Given the description of an element on the screen output the (x, y) to click on. 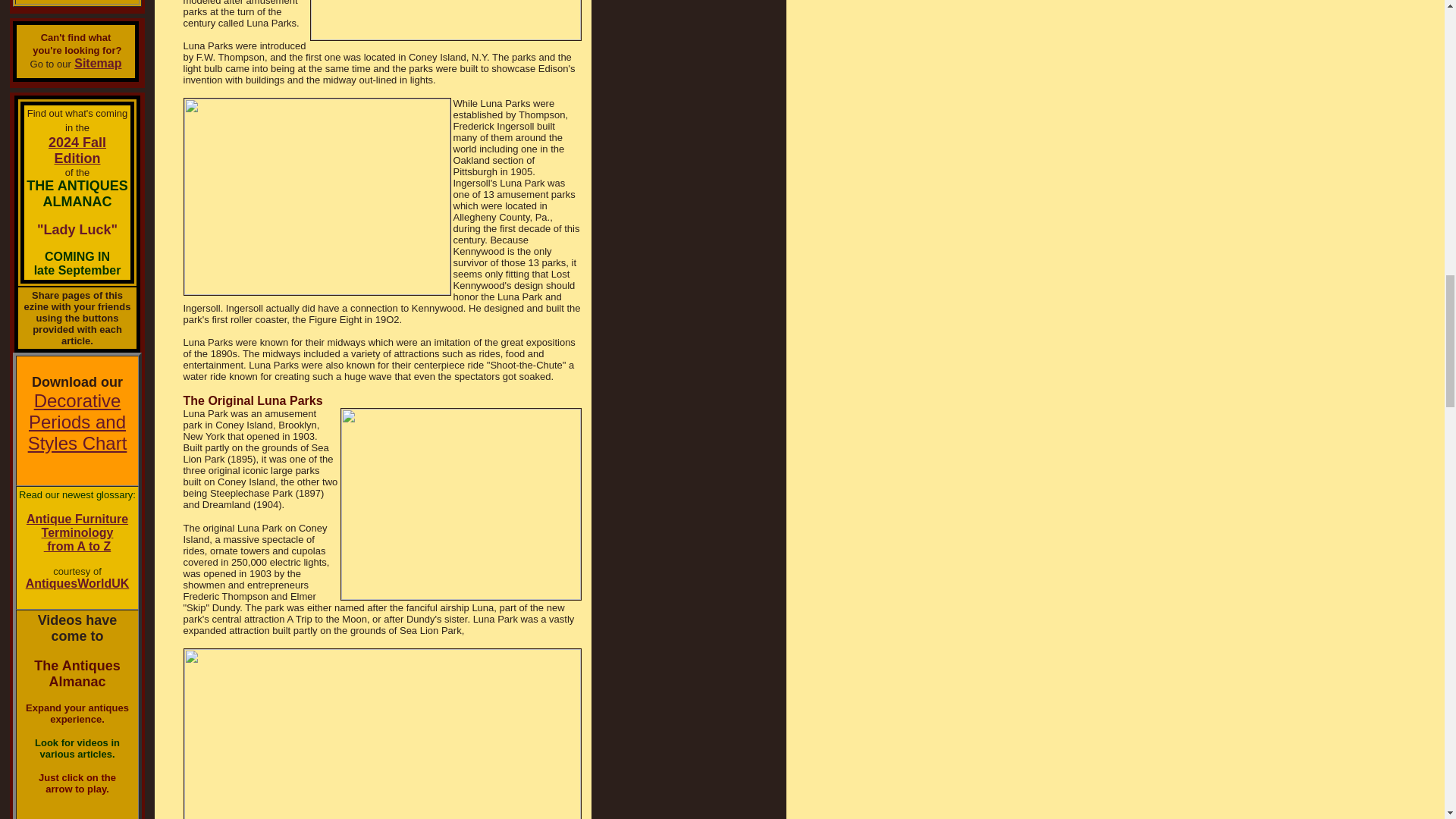
AntiquesWorldUK (77, 532)
Decorative Periods and Styles Chart (77, 583)
Sitemap (77, 421)
2024 Fall Edition (97, 62)
